Given the description of an element on the screen output the (x, y) to click on. 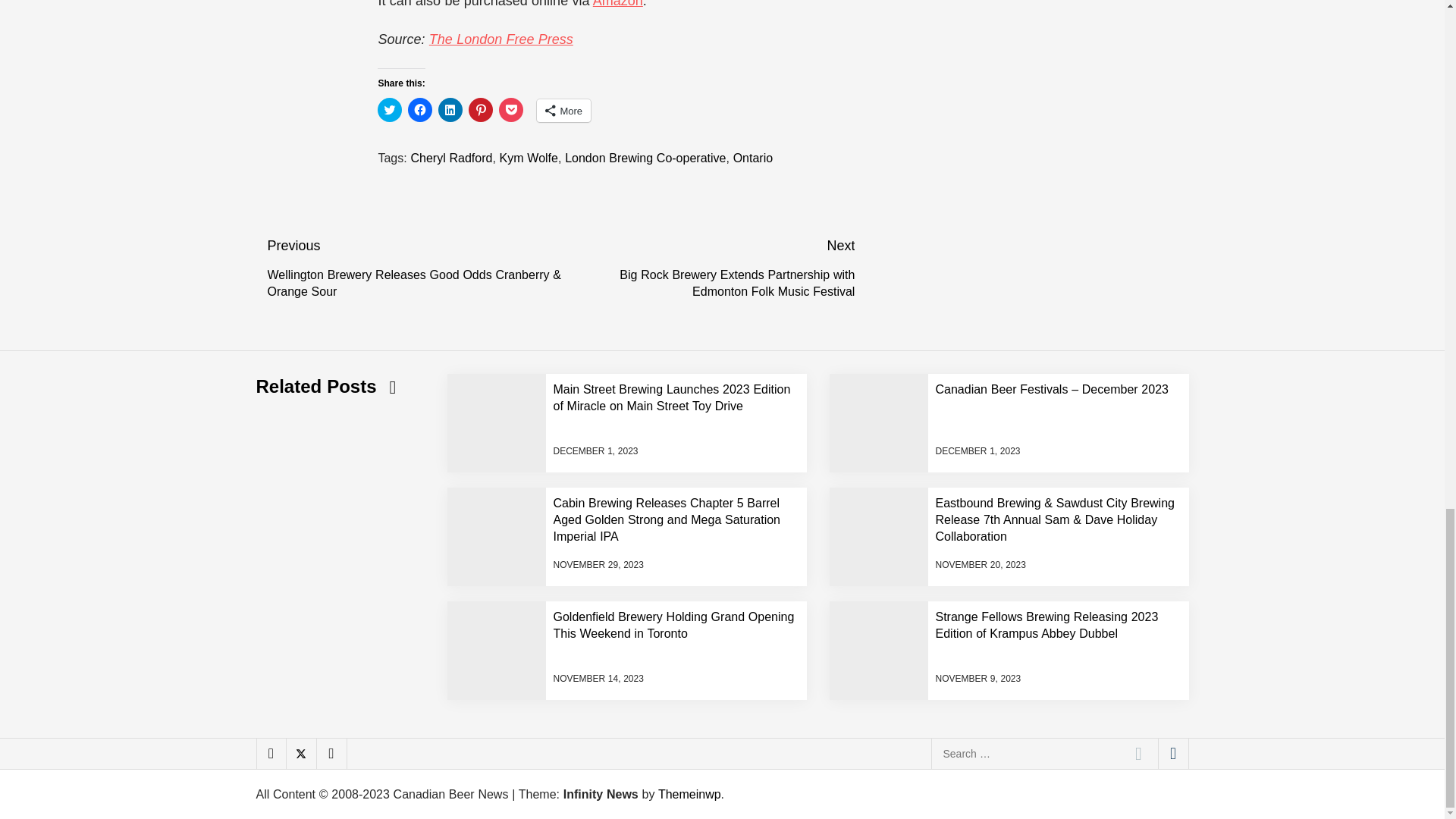
Click to share on LinkedIn (450, 109)
Search (1138, 753)
Click to share on Facebook (419, 109)
The London Free Press (501, 38)
Click to share on Pinterest (480, 109)
Cheryl Radford (451, 157)
Click to share on Pocket (510, 109)
Amazon (617, 4)
Search (1138, 753)
Click to share on Twitter (389, 109)
